Given the description of an element on the screen output the (x, y) to click on. 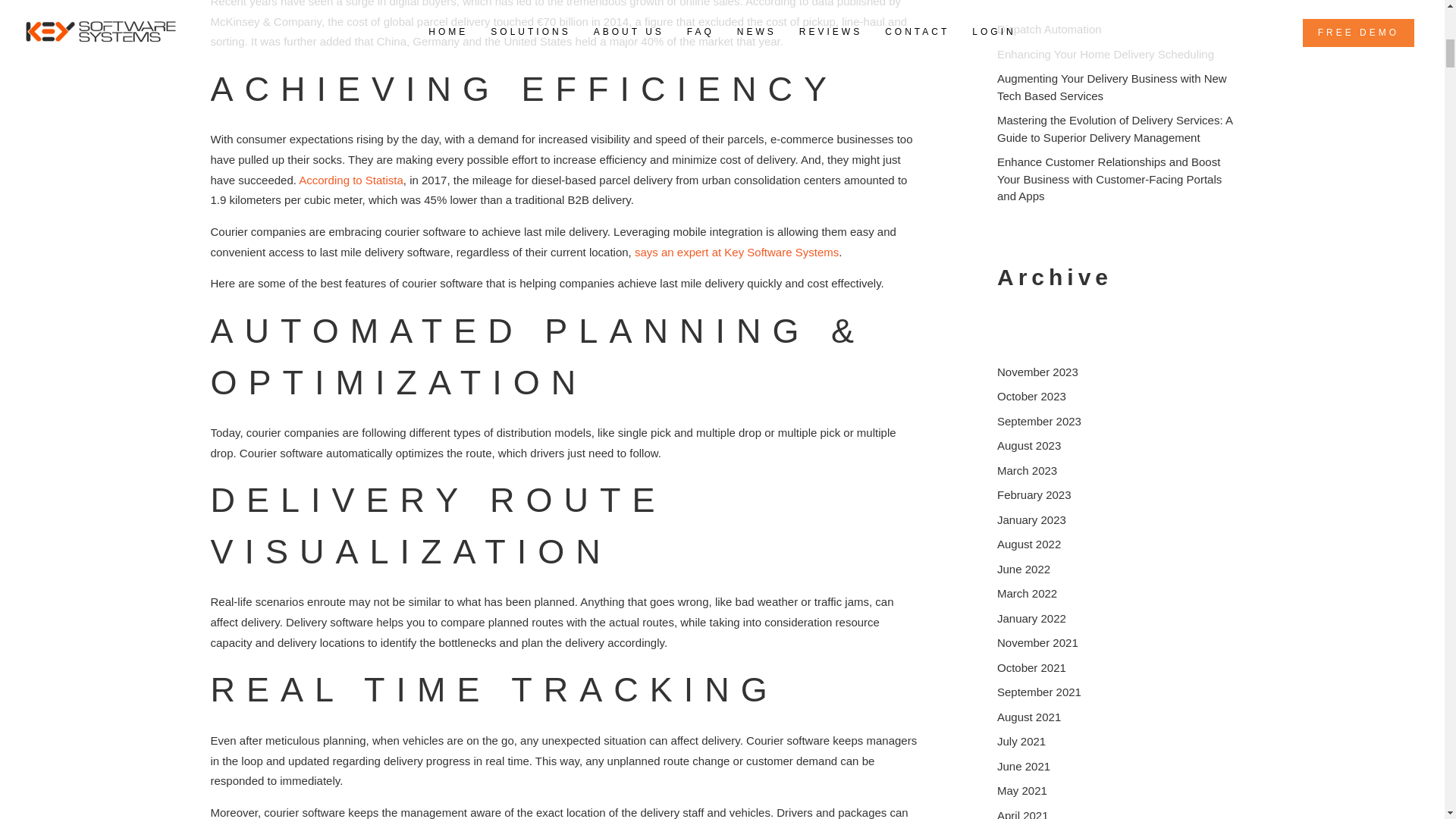
says an expert at Key Software Systems (736, 251)
Enhancing Your Home Delivery Scheduling (1105, 53)
Dispatch Automation (1049, 29)
According to Statista (350, 179)
